Given the description of an element on the screen output the (x, y) to click on. 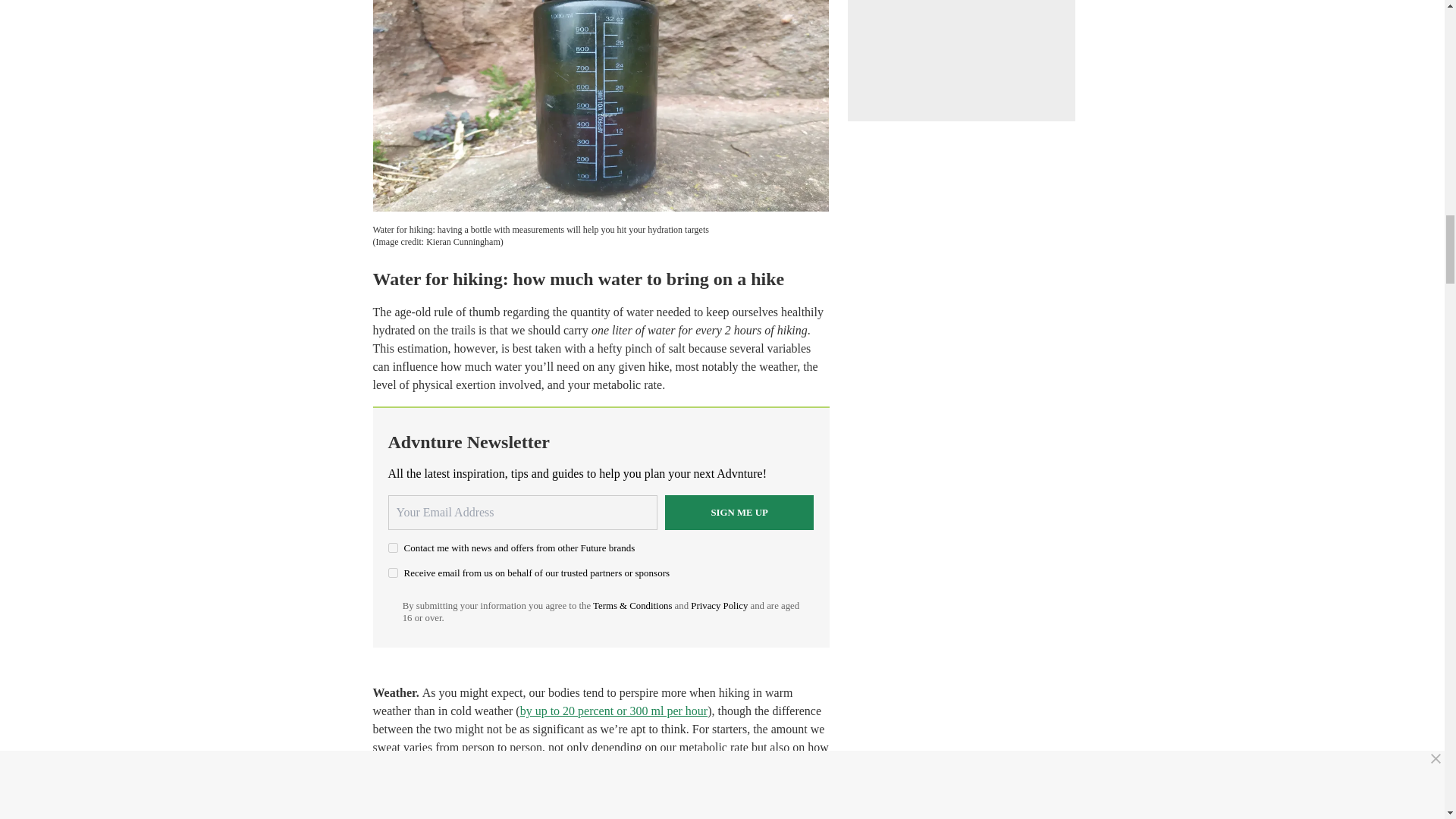
Sign me up (739, 512)
on (392, 573)
on (392, 547)
